Given the description of an element on the screen output the (x, y) to click on. 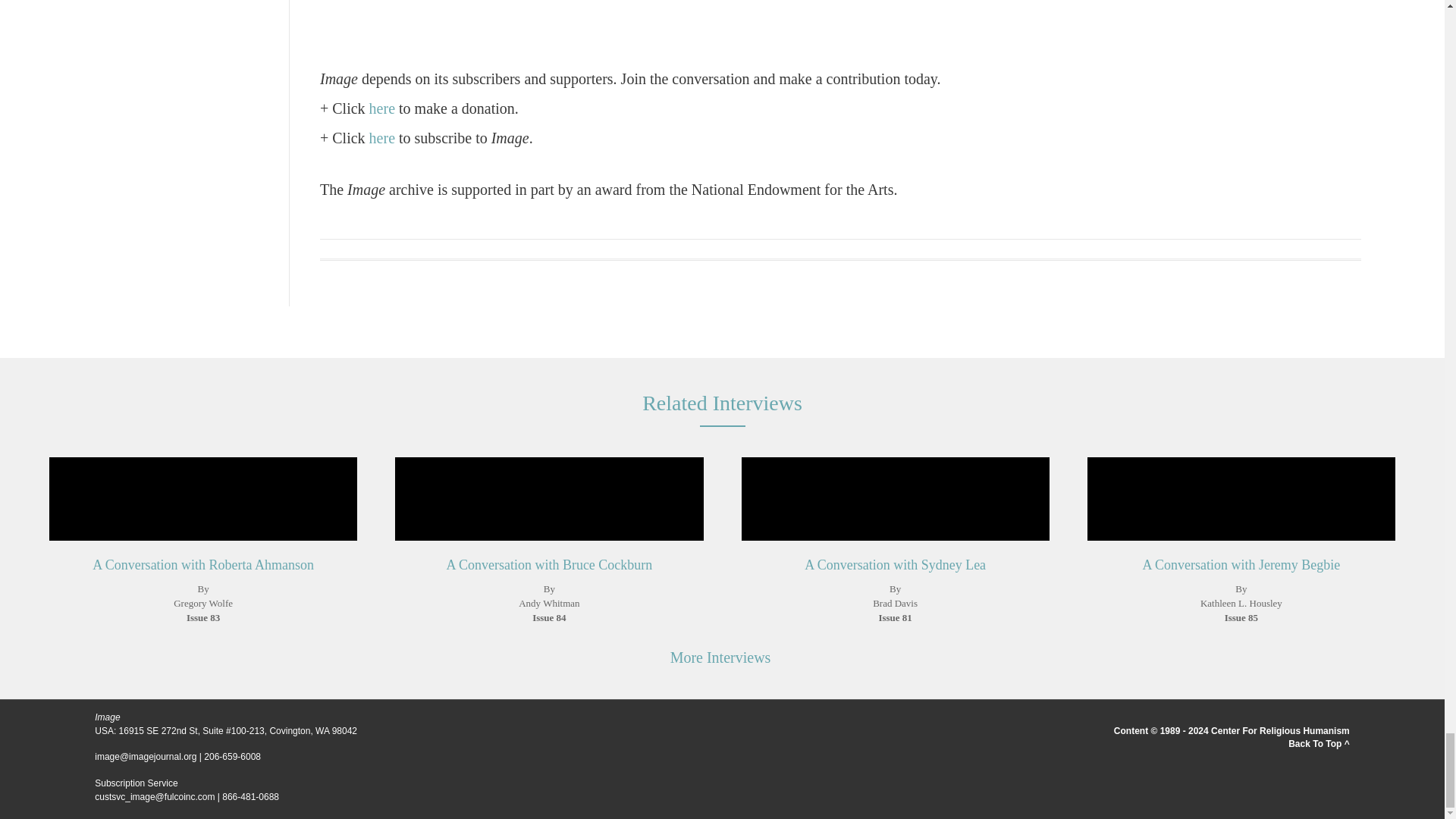
A Conversation with Roberta Ahmanson (203, 543)
A Conversation with Sydney Lea (895, 543)
A Conversation with Jeremy Begbie (1241, 543)
A Conversation with Bruce Cockburn (548, 543)
